Given the description of an element on the screen output the (x, y) to click on. 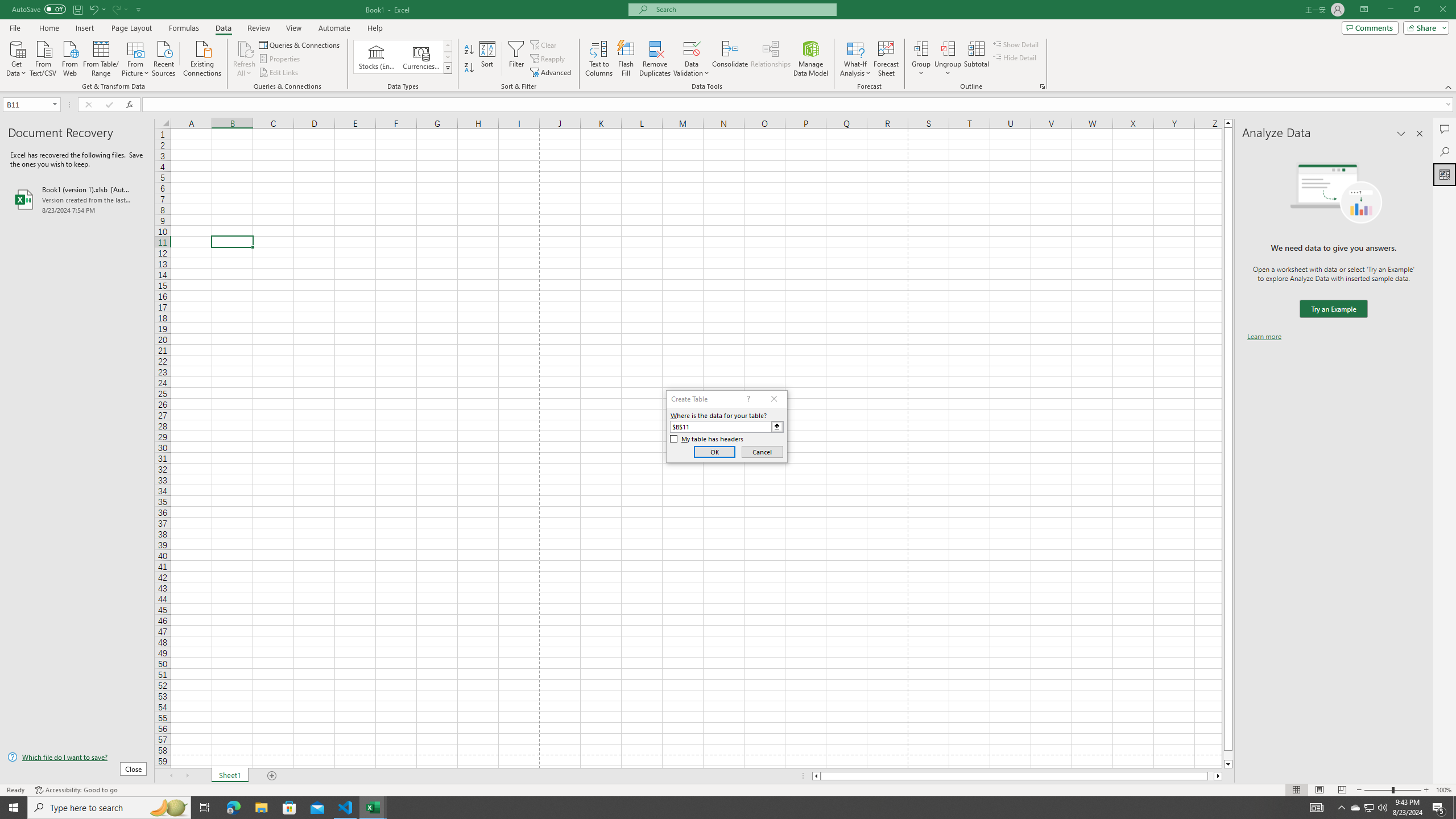
Sort... (487, 58)
Group and Outline Settings (1042, 85)
Existing Connections (202, 57)
Manage Data Model (810, 58)
